Given the description of an element on the screen output the (x, y) to click on. 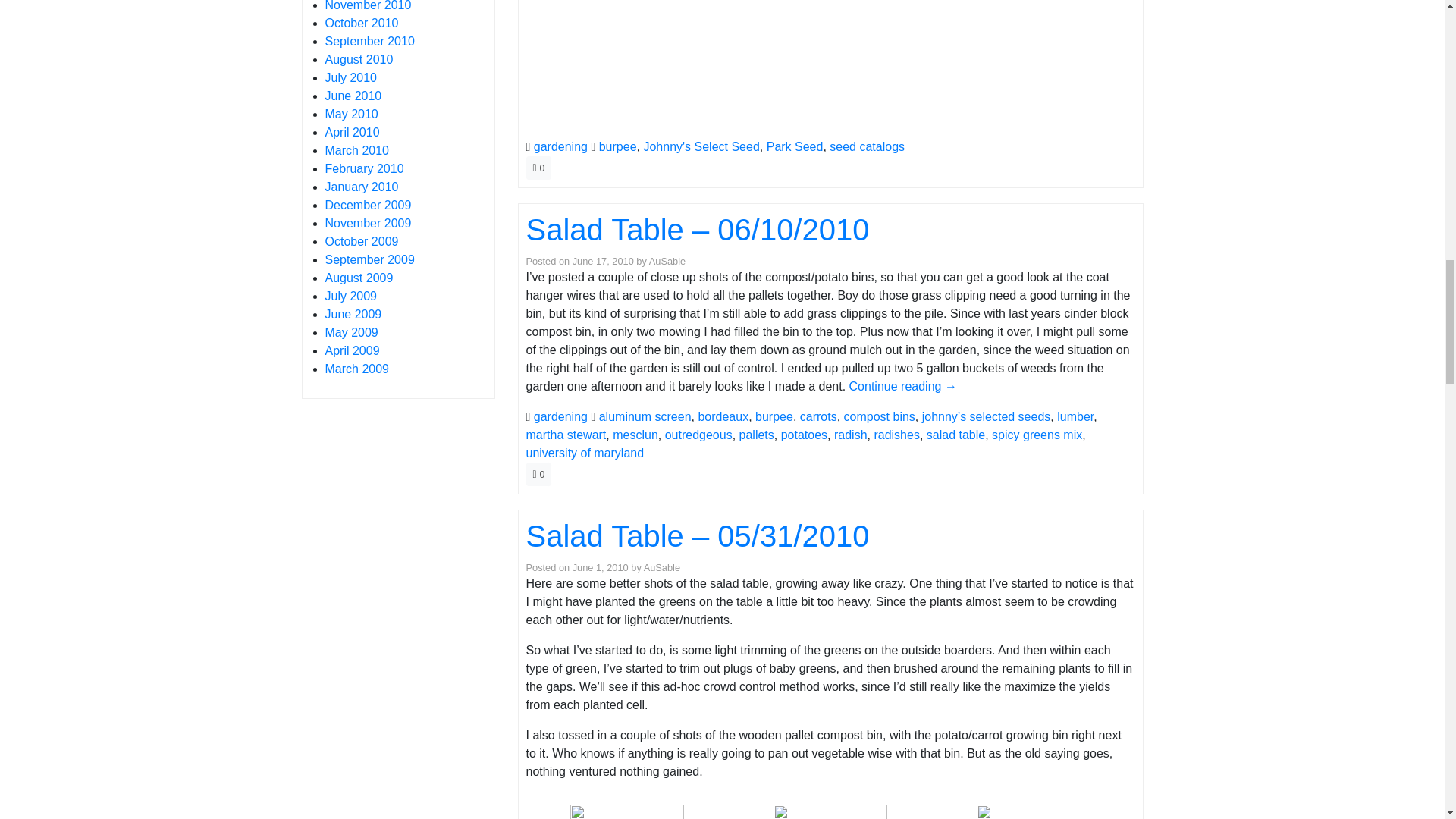
9:34 pm (602, 260)
View all posts by AuSable (667, 260)
